Given the description of an element on the screen output the (x, y) to click on. 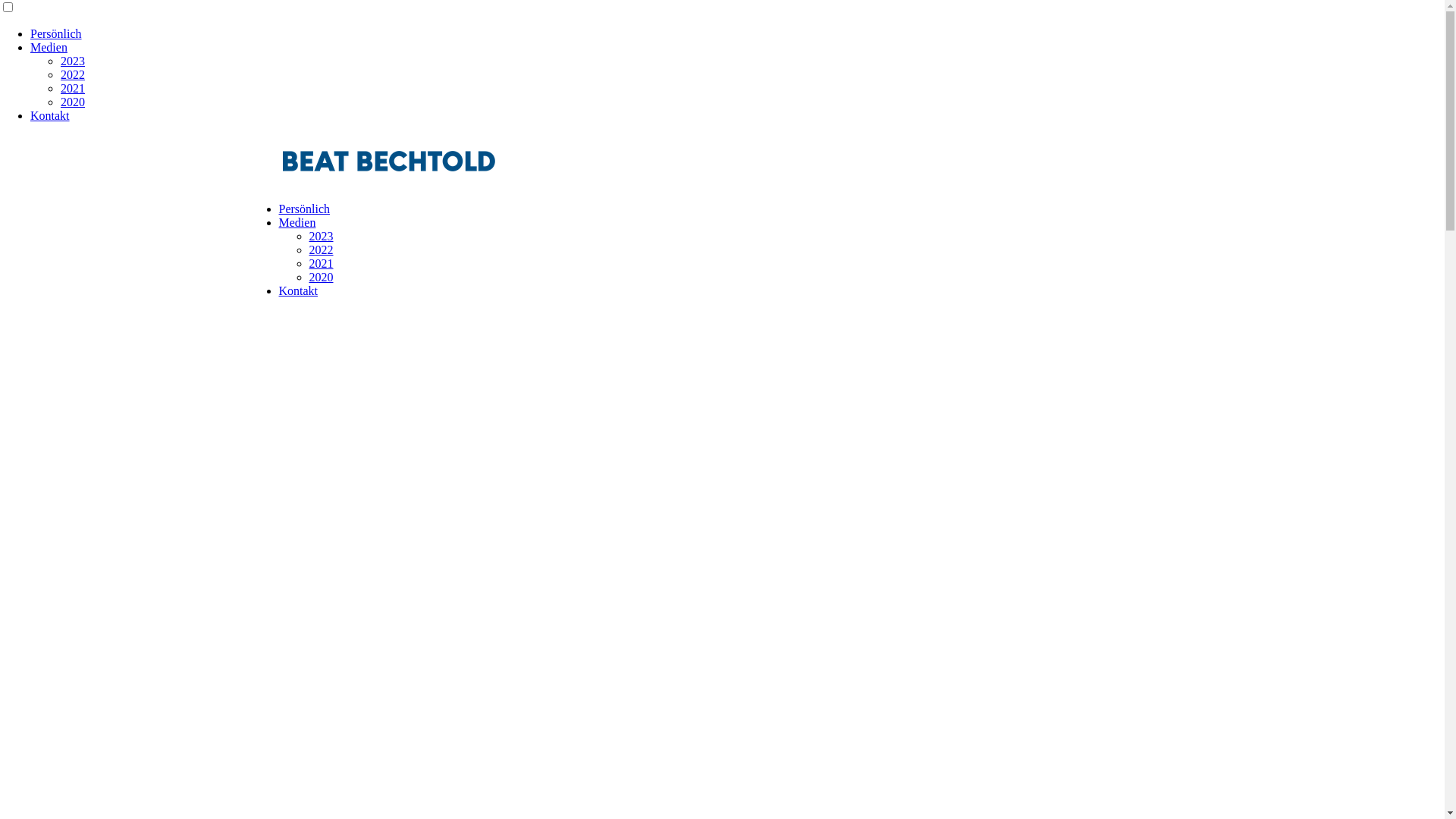
Medien Element type: text (48, 46)
2020 Element type: text (321, 276)
2022 Element type: text (72, 74)
2020 Element type: text (72, 101)
Kontakt Element type: text (298, 290)
2023 Element type: text (72, 60)
Kontakt Element type: text (49, 115)
Medien Element type: text (297, 222)
2021 Element type: text (321, 263)
2022 Element type: text (321, 249)
2023 Element type: text (321, 235)
2021 Element type: text (72, 87)
